Given the description of an element on the screen output the (x, y) to click on. 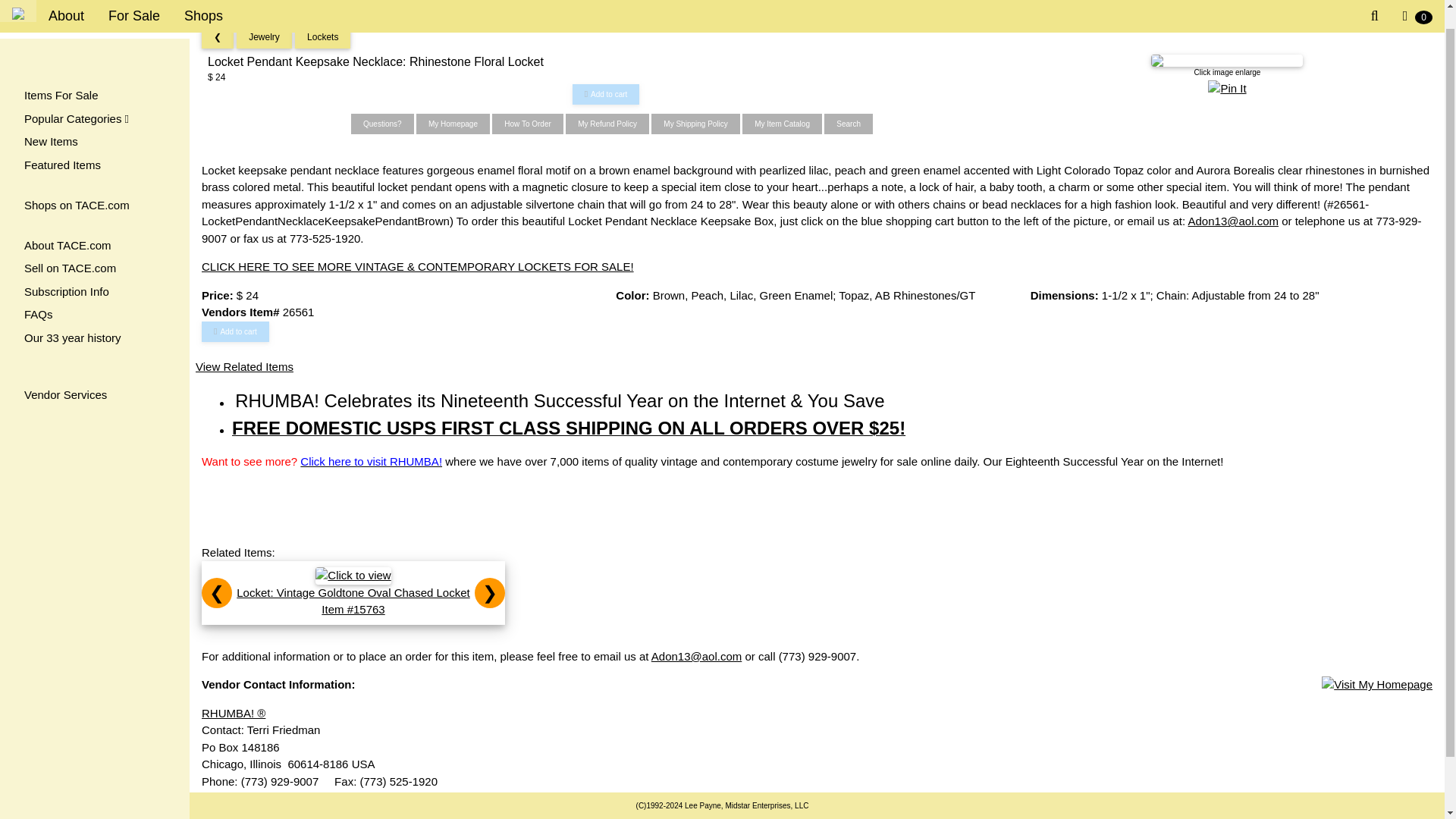
Shops on TACE.com (94, 186)
Vendor Services (94, 375)
About (66, 6)
Popular Categories  (94, 99)
Sell on TACE.com (94, 249)
Lockets (322, 36)
Our 33 year history (94, 318)
New Items (94, 122)
Shops (202, 6)
Subscription Info (94, 272)
